Given the description of an element on the screen output the (x, y) to click on. 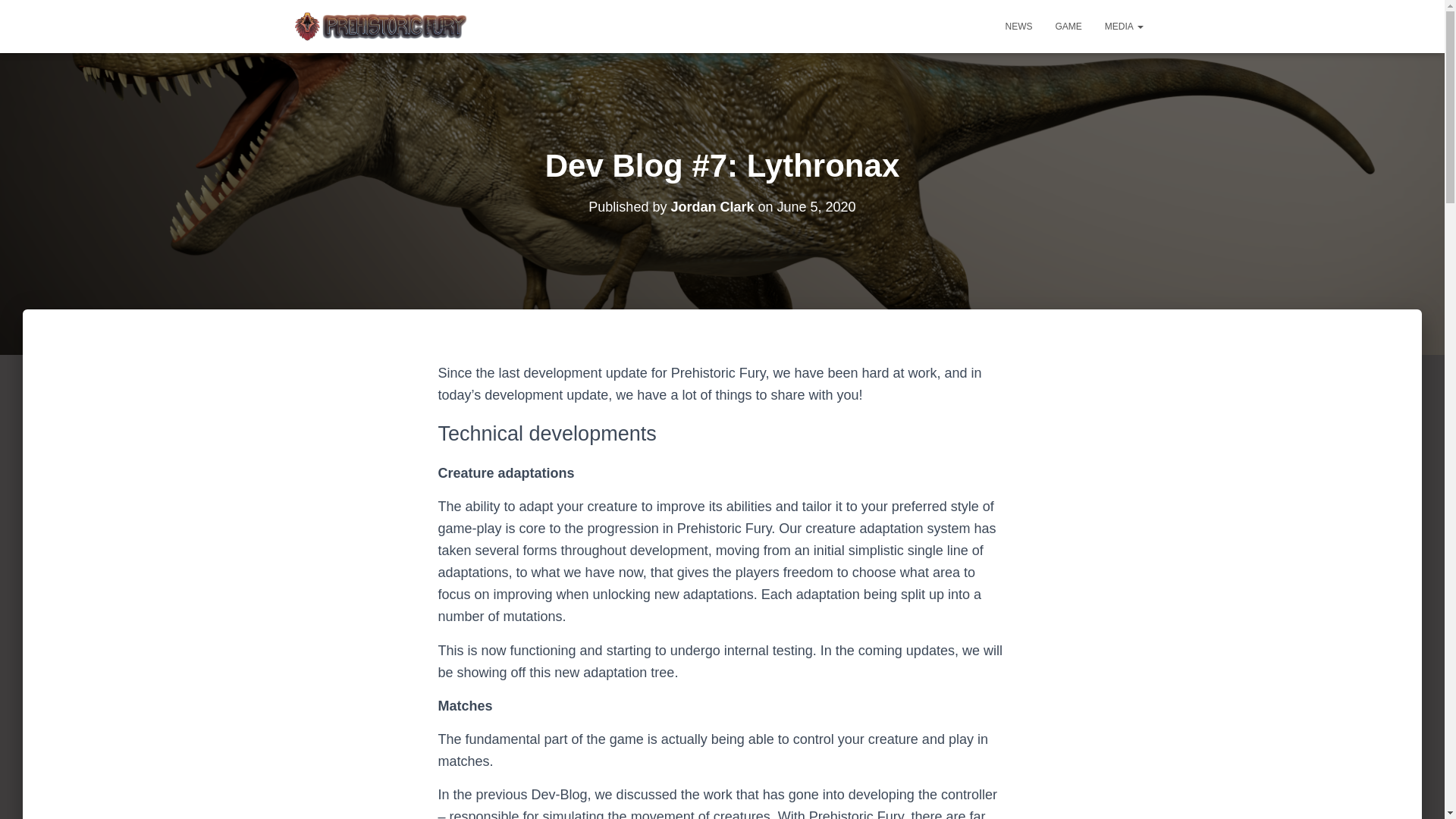
Jordan Clark (711, 206)
NEWS (1017, 26)
Media (1123, 26)
Prehistoric Fury (379, 26)
GAME (1068, 26)
News (1017, 26)
Game (1068, 26)
MEDIA (1123, 26)
